Given the description of an element on the screen output the (x, y) to click on. 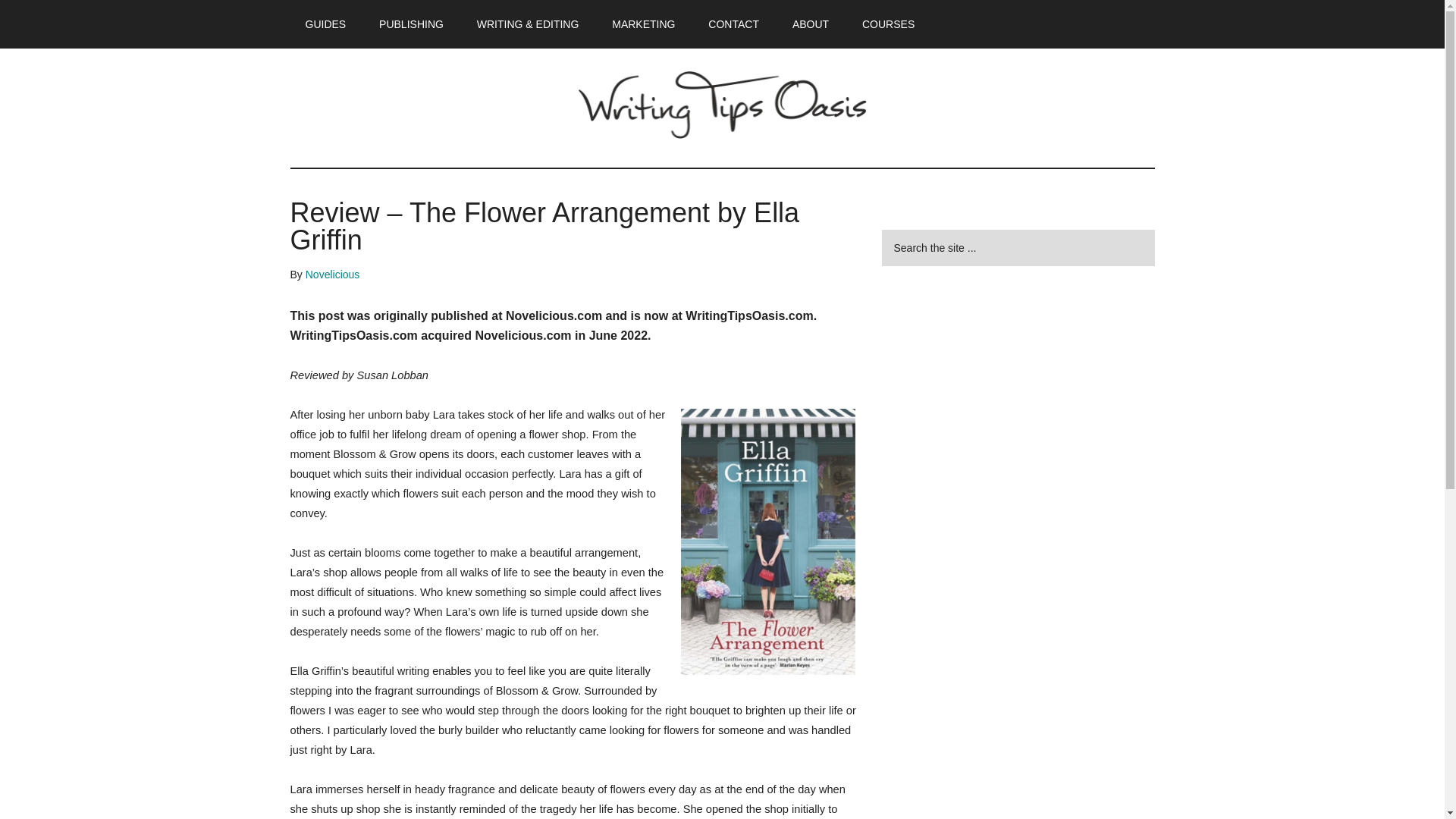
The Flower Arrangement by Ella Griffin (768, 541)
COURSES (888, 24)
Novelicious (332, 274)
ABOUT (810, 24)
MARKETING (643, 24)
PUBLISHING (411, 24)
GUIDES (325, 24)
CONTACT (733, 24)
